Given the description of an element on the screen output the (x, y) to click on. 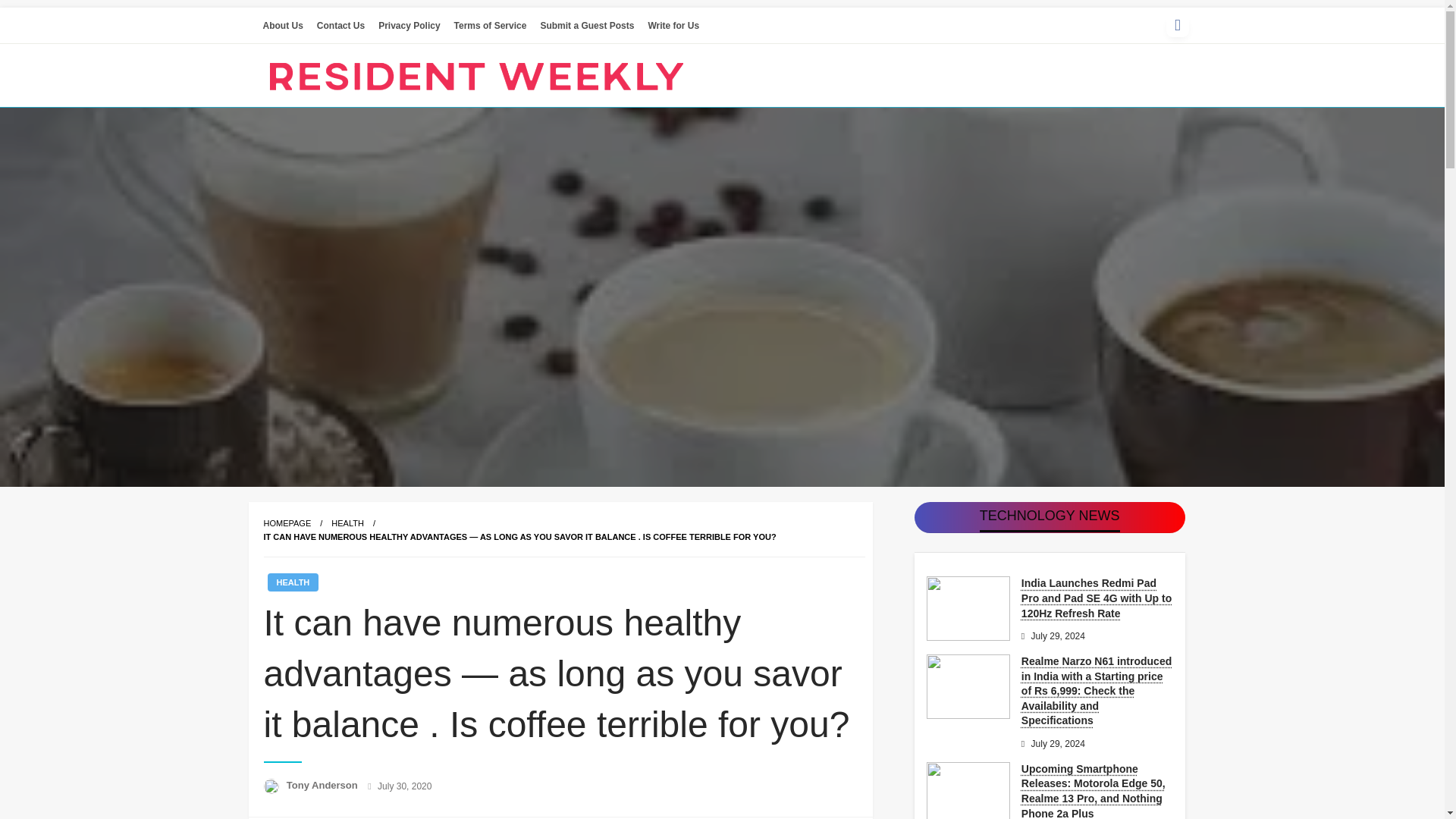
HEALTH (292, 582)
Contact Us (340, 25)
Health (347, 522)
Tony Anderson (323, 785)
July 30, 2020 (403, 786)
Submit a Guest Posts (586, 25)
About Us (283, 25)
Write for Us (673, 25)
HEALTH (347, 522)
HOMEPAGE (287, 522)
Tony Anderson (323, 785)
Privacy Policy (408, 25)
Homepage (287, 522)
Resident Weekly (362, 126)
Terms of Service (490, 25)
